Given the description of an element on the screen output the (x, y) to click on. 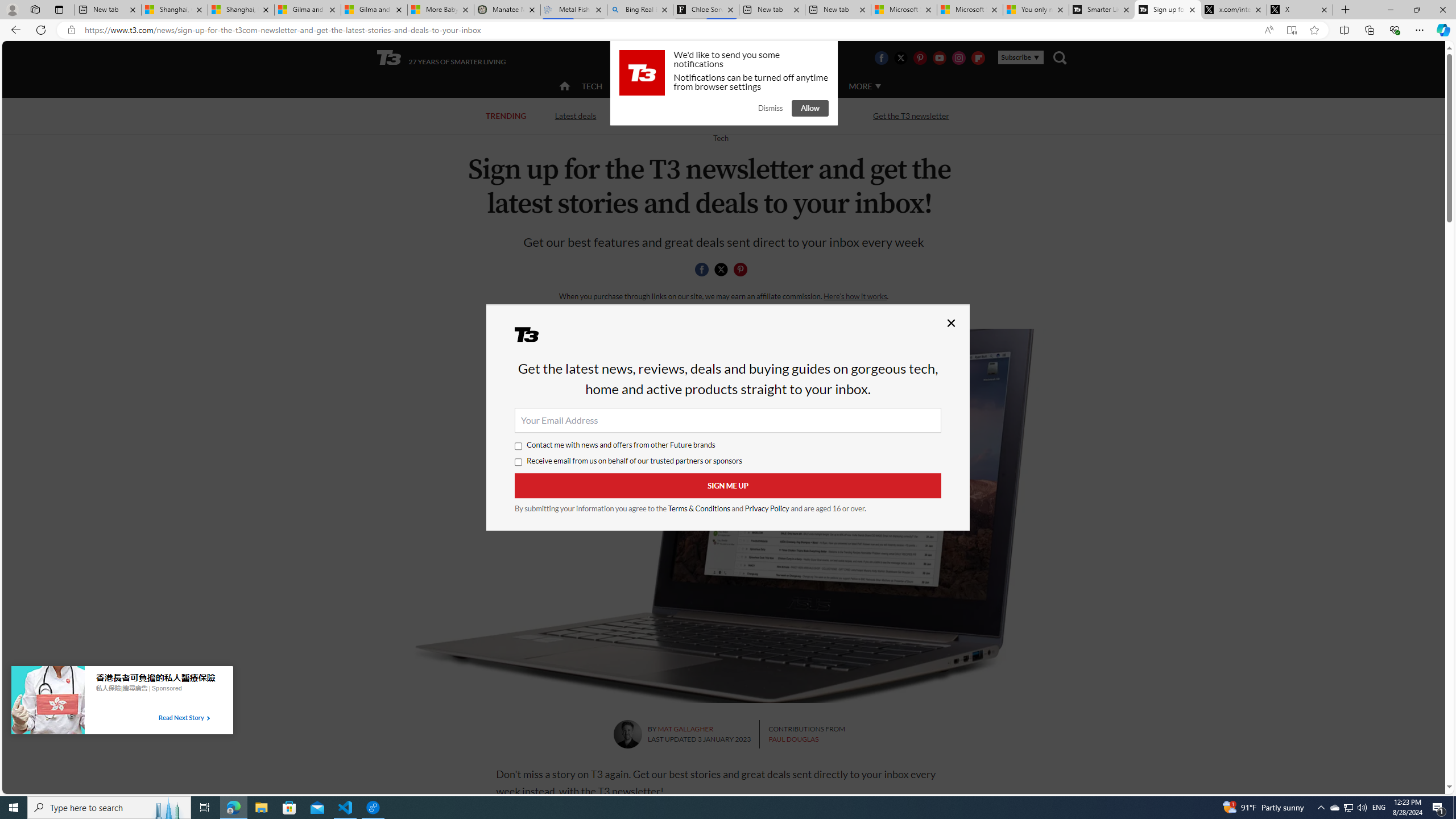
MAT GALLAGHER (685, 728)
TECH (591, 86)
Share this page on Twitter (720, 269)
HOME LIVING (701, 86)
Manatee Mortality Statistics | FWC (507, 9)
